Given the description of an element on the screen output the (x, y) to click on. 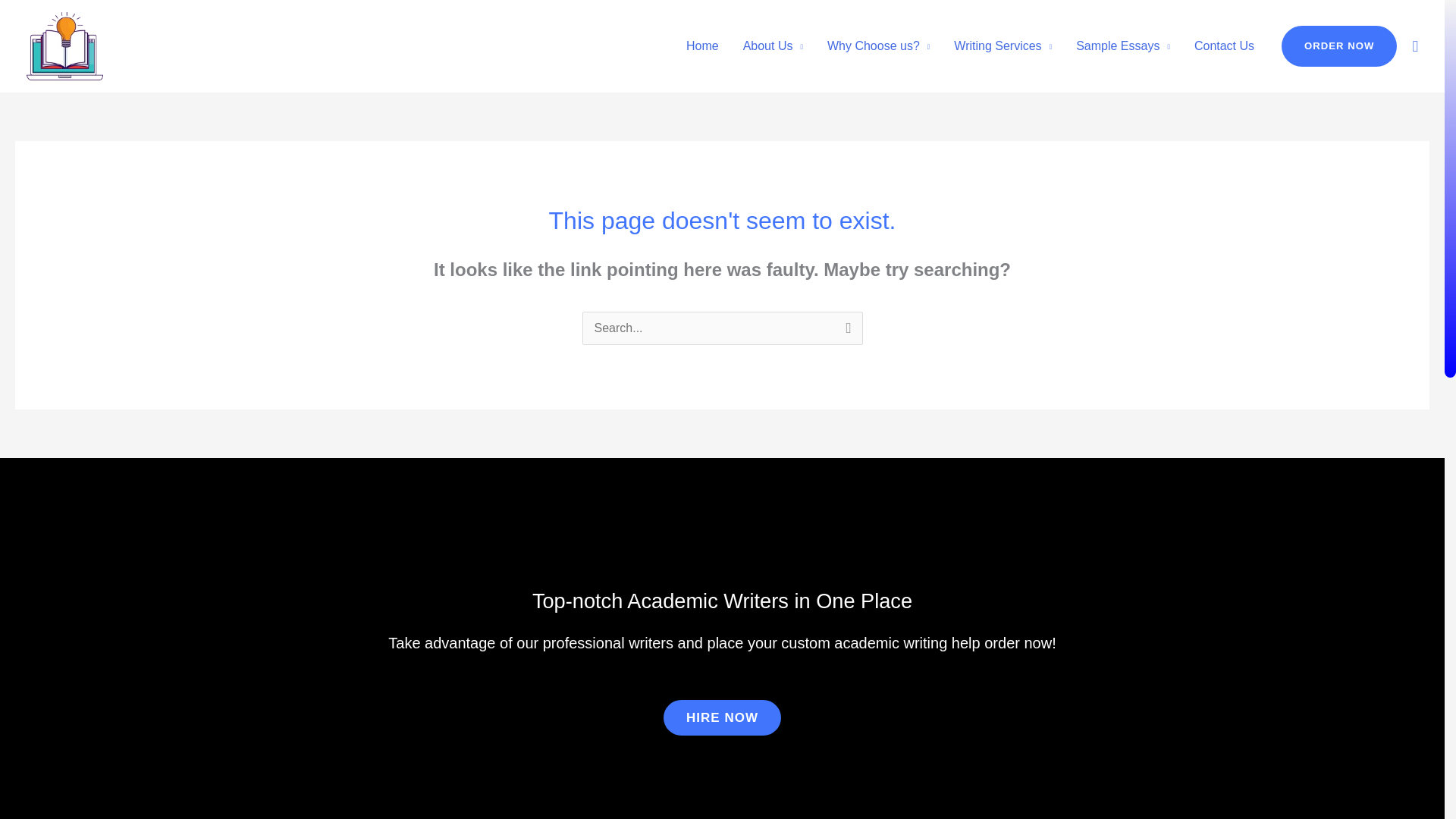
Writing Services (1003, 45)
Home (702, 45)
Why Choose us? (878, 45)
Sample Essays (1123, 45)
About Us (772, 45)
Search (844, 330)
Search (844, 330)
